Given the description of an element on the screen output the (x, y) to click on. 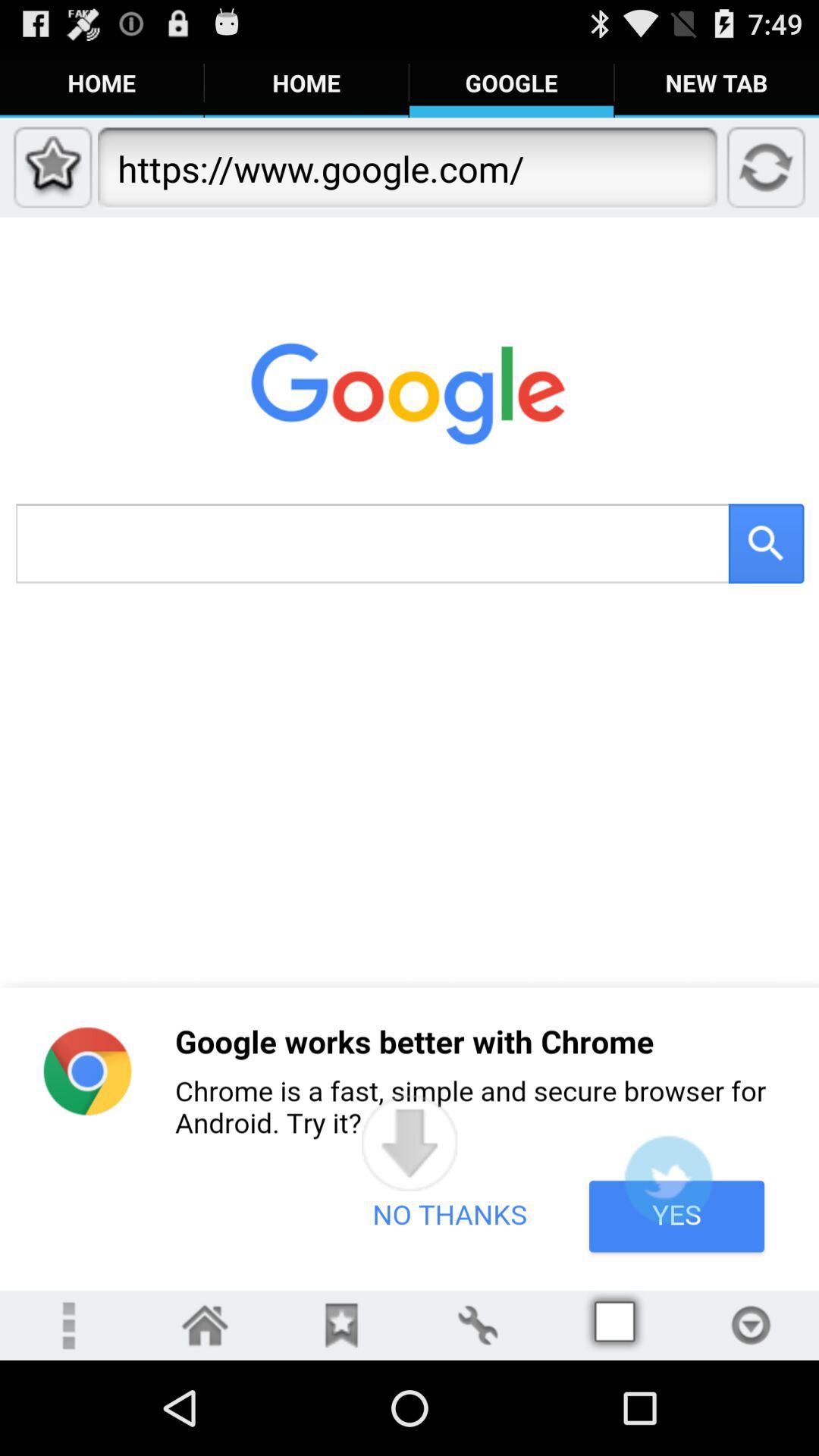
download (750, 1325)
